Given the description of an element on the screen output the (x, y) to click on. 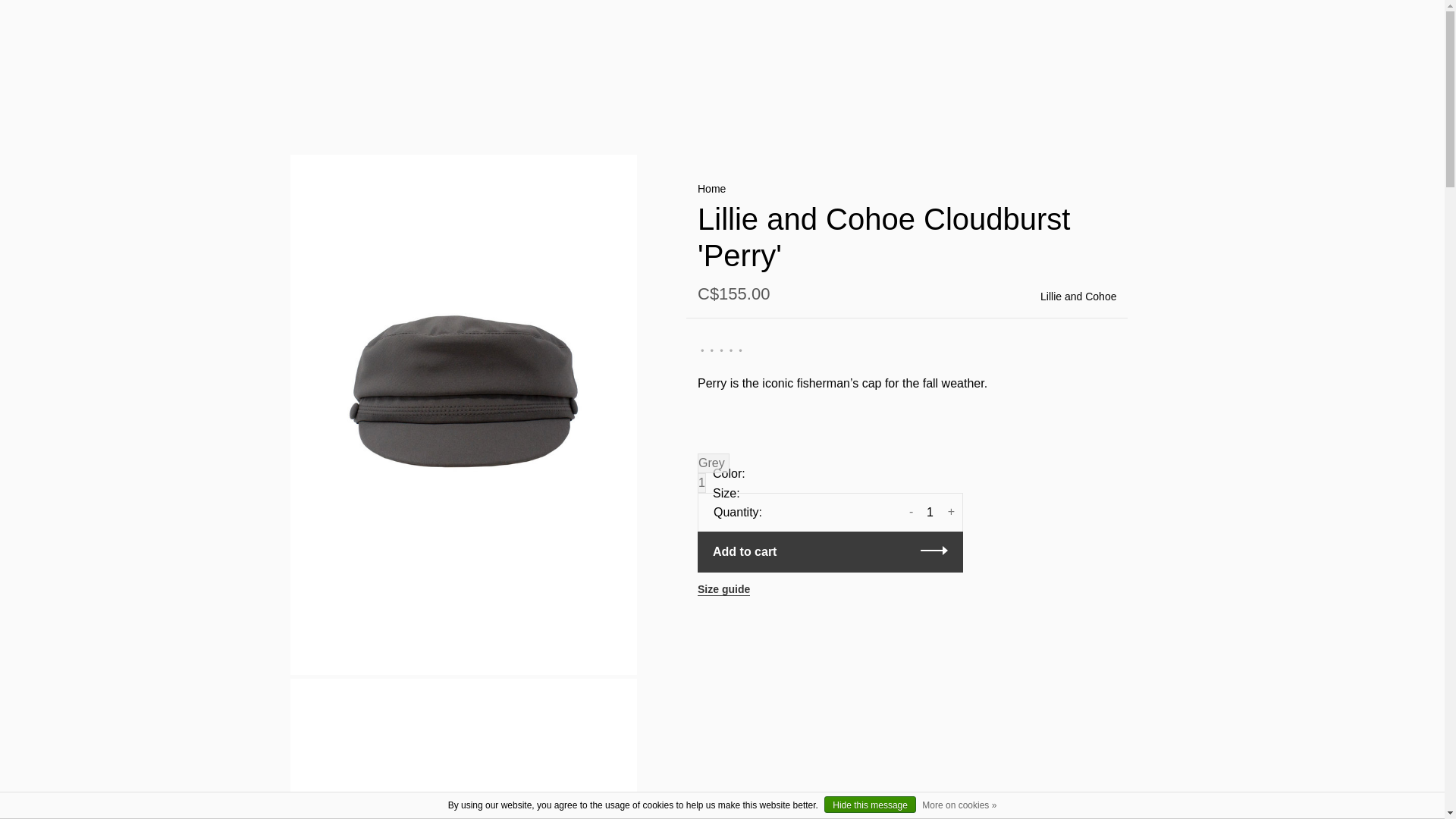
1 (929, 512)
